Given the description of an element on the screen output the (x, y) to click on. 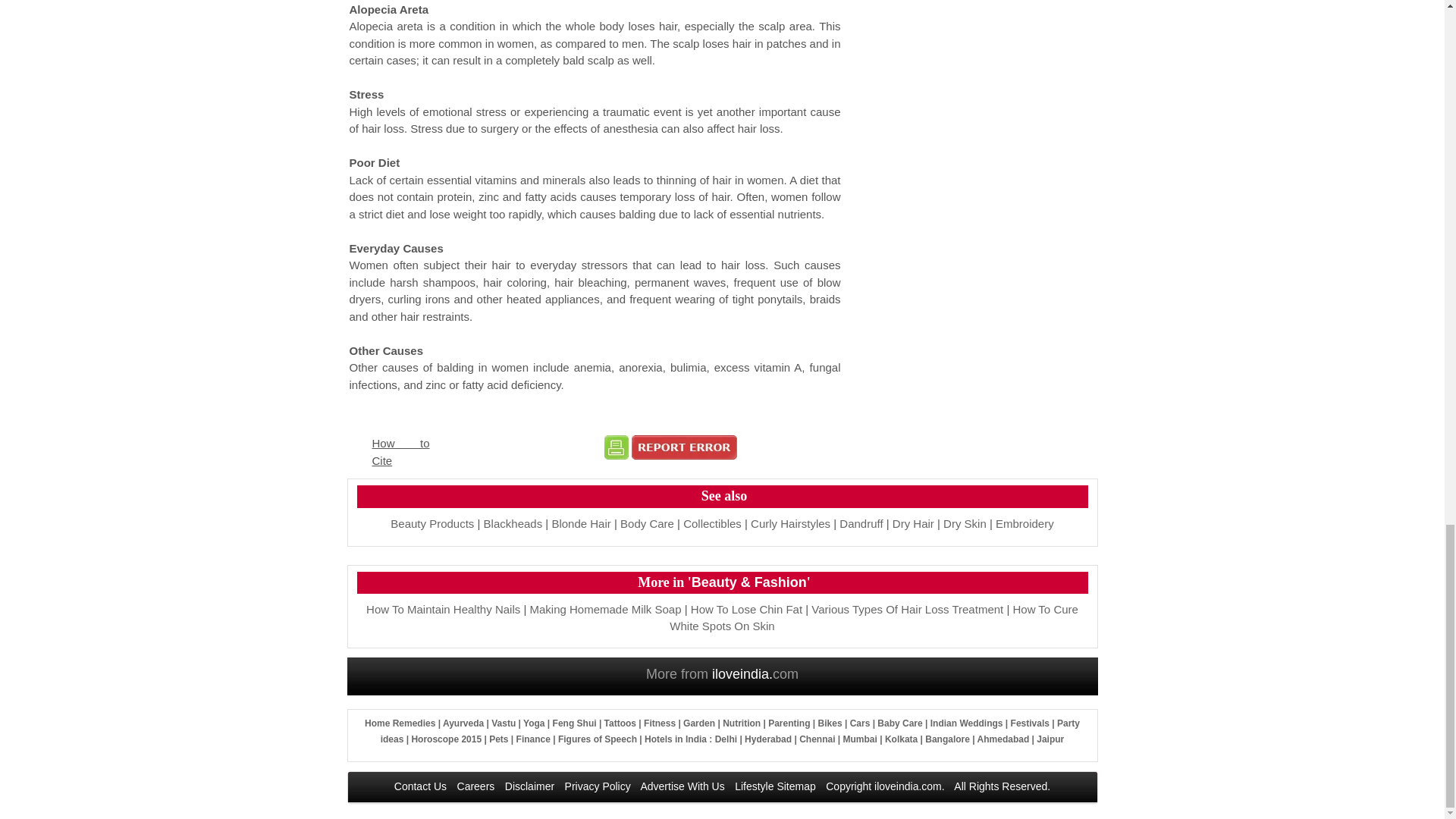
Body Care (647, 522)
Dandruff (861, 522)
Blonde Hair (580, 522)
Curly Hairstyles (790, 522)
Collectibles (711, 522)
Beauty Products (432, 522)
Blackheads (513, 522)
Dry Hair (913, 522)
